Given the description of an element on the screen output the (x, y) to click on. 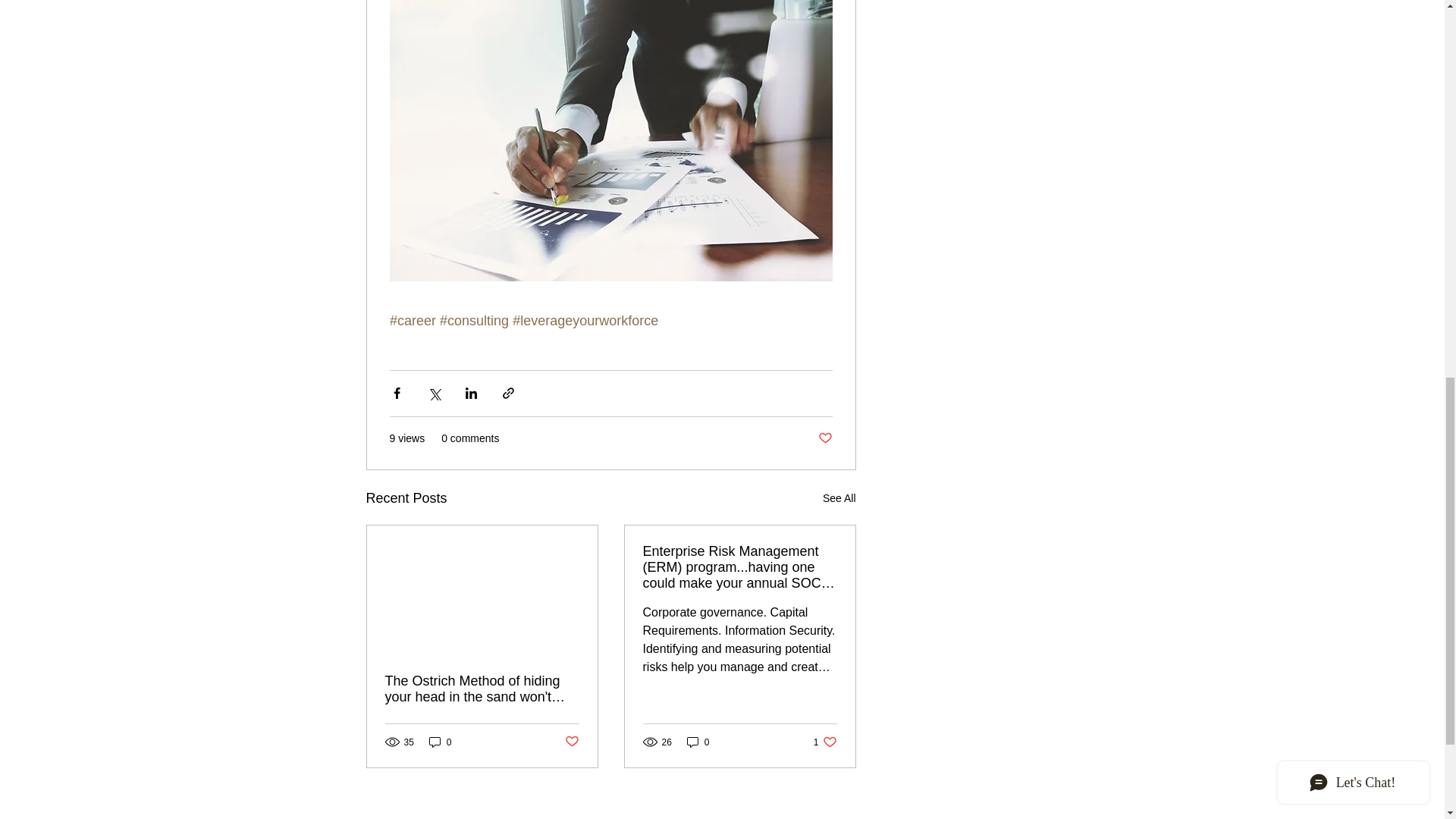
Post not marked as liked (571, 741)
See All (839, 498)
0 (698, 741)
0 (440, 741)
Post not marked as liked (823, 438)
